Given the description of an element on the screen output the (x, y) to click on. 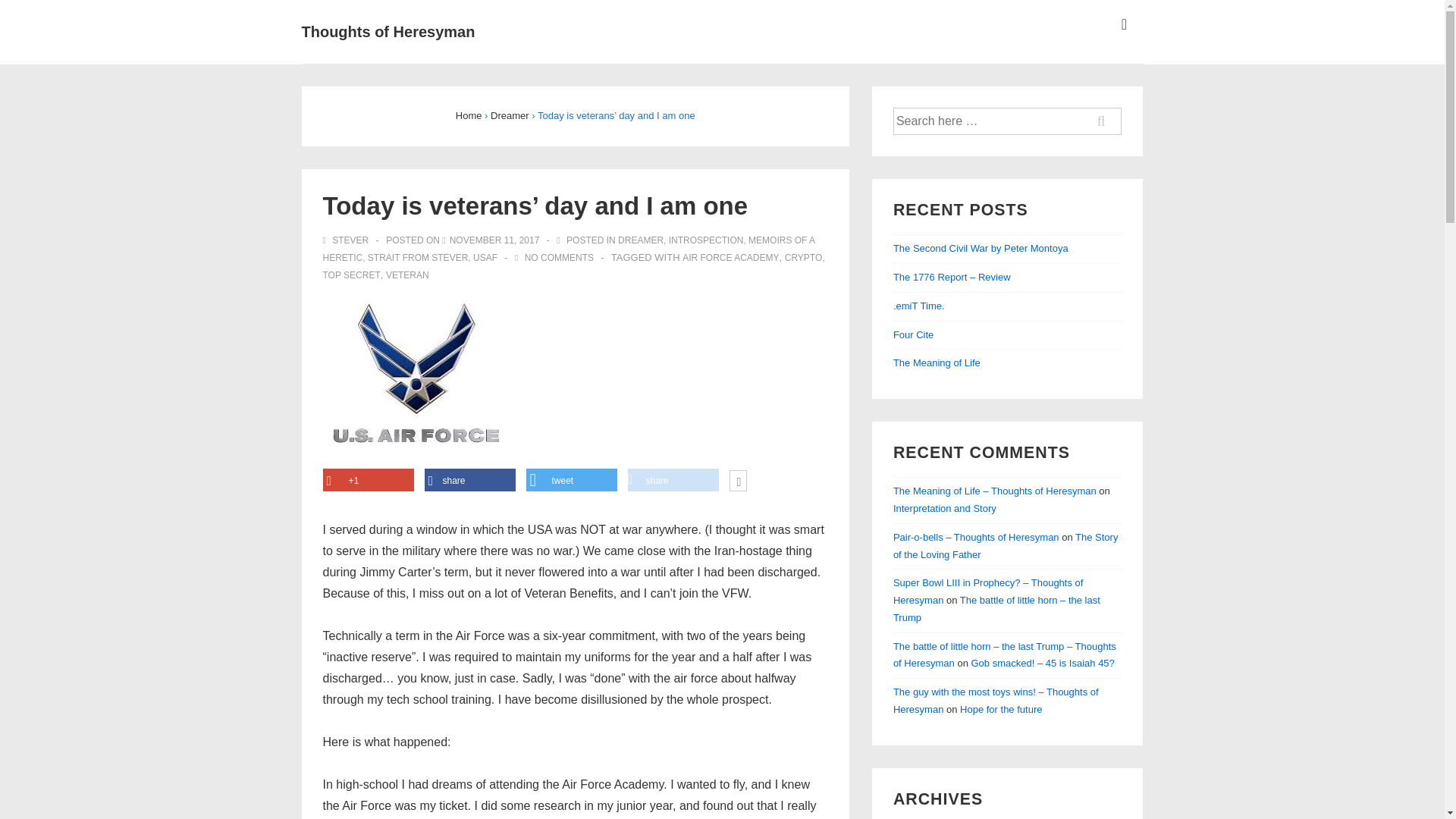
.emiT Time. (918, 306)
share (673, 480)
AIR FORCE ACADEMY (730, 257)
The Meaning of Life (936, 362)
MEMOIRS OF A HERETIC (569, 248)
tweet (571, 480)
TOP SECRET (351, 275)
Share on Reddit (673, 480)
STEVER (347, 240)
Four Cite (913, 334)
share (470, 480)
The Story of the Loving Father (1005, 545)
Dreamer (509, 115)
VETERAN (407, 275)
Interpretation and Story (944, 508)
